Given the description of an element on the screen output the (x, y) to click on. 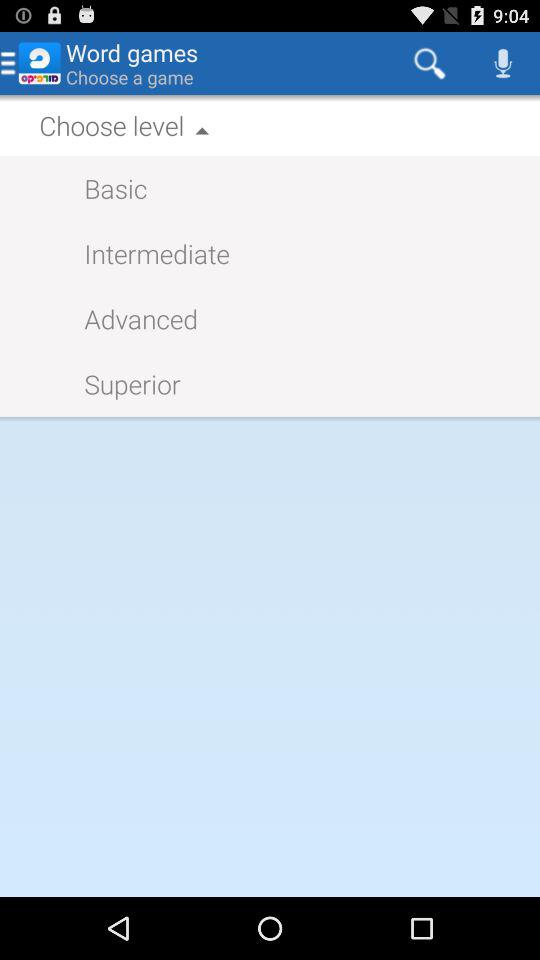
flip until the intermediate item (146, 252)
